Given the description of an element on the screen output the (x, y) to click on. 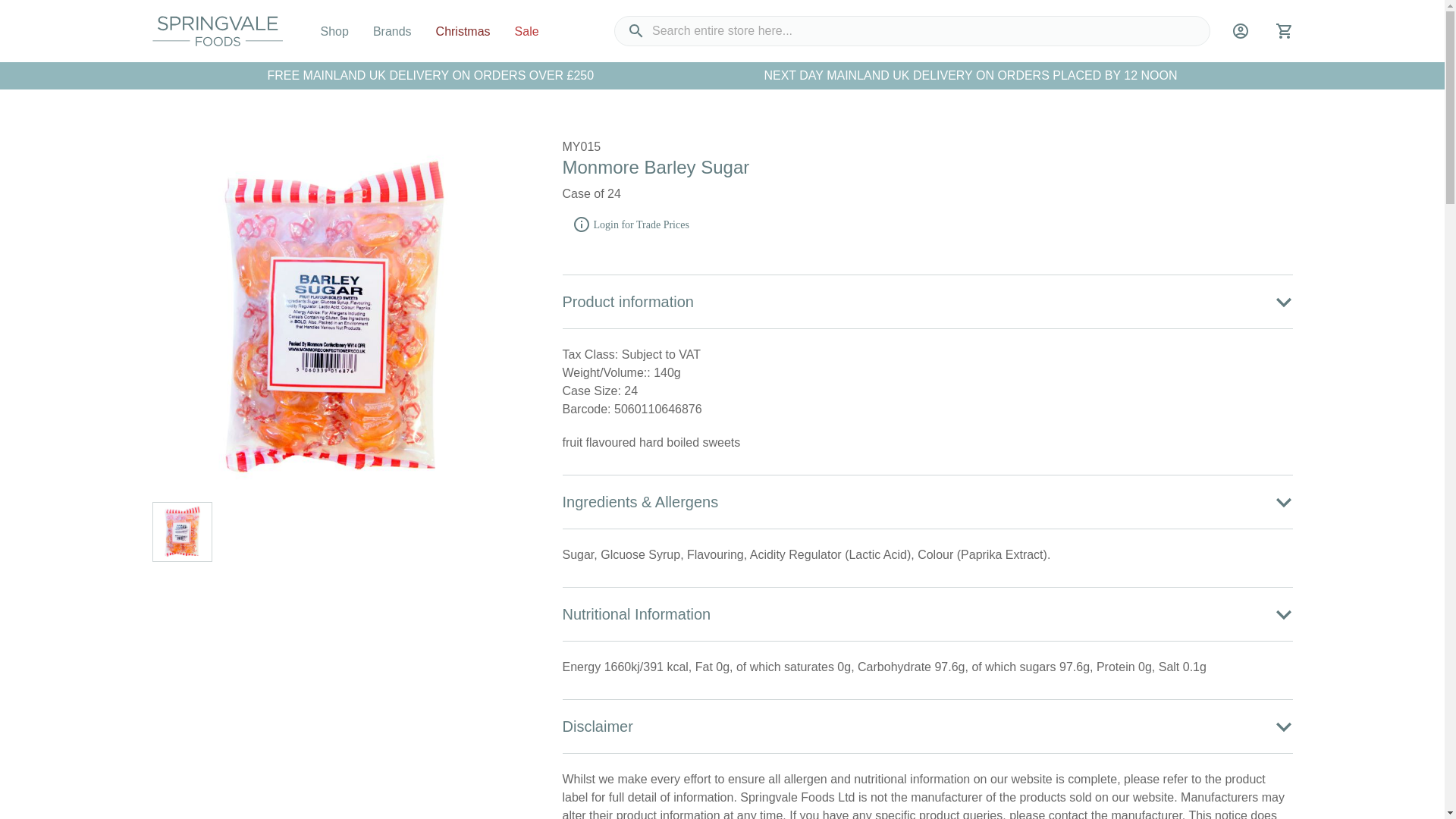
Springvale Foods (217, 30)
Basket (1283, 36)
Shop (333, 31)
Account (1240, 36)
